Given the description of an element on the screen output the (x, y) to click on. 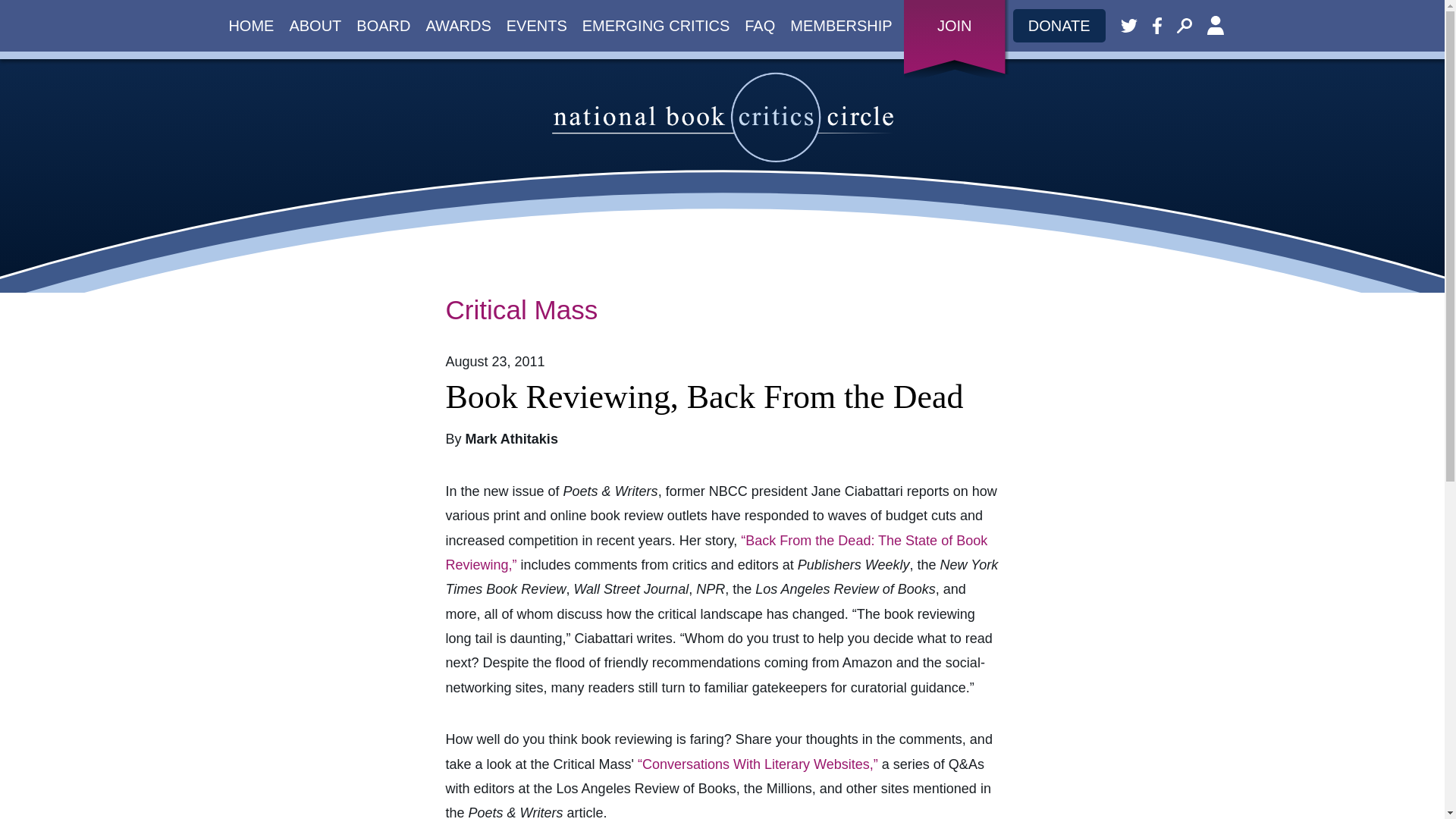
BOARD (383, 25)
DONATE (1059, 25)
AWARDS (457, 25)
View all posts in Critical Mass (521, 309)
MEMBERSHIP (841, 25)
EMERGING CRITICS (655, 25)
HOME (251, 25)
Critical Mass (521, 309)
EVENTS (537, 25)
ABOUT (315, 25)
JOIN (955, 25)
